Given the description of an element on the screen output the (x, y) to click on. 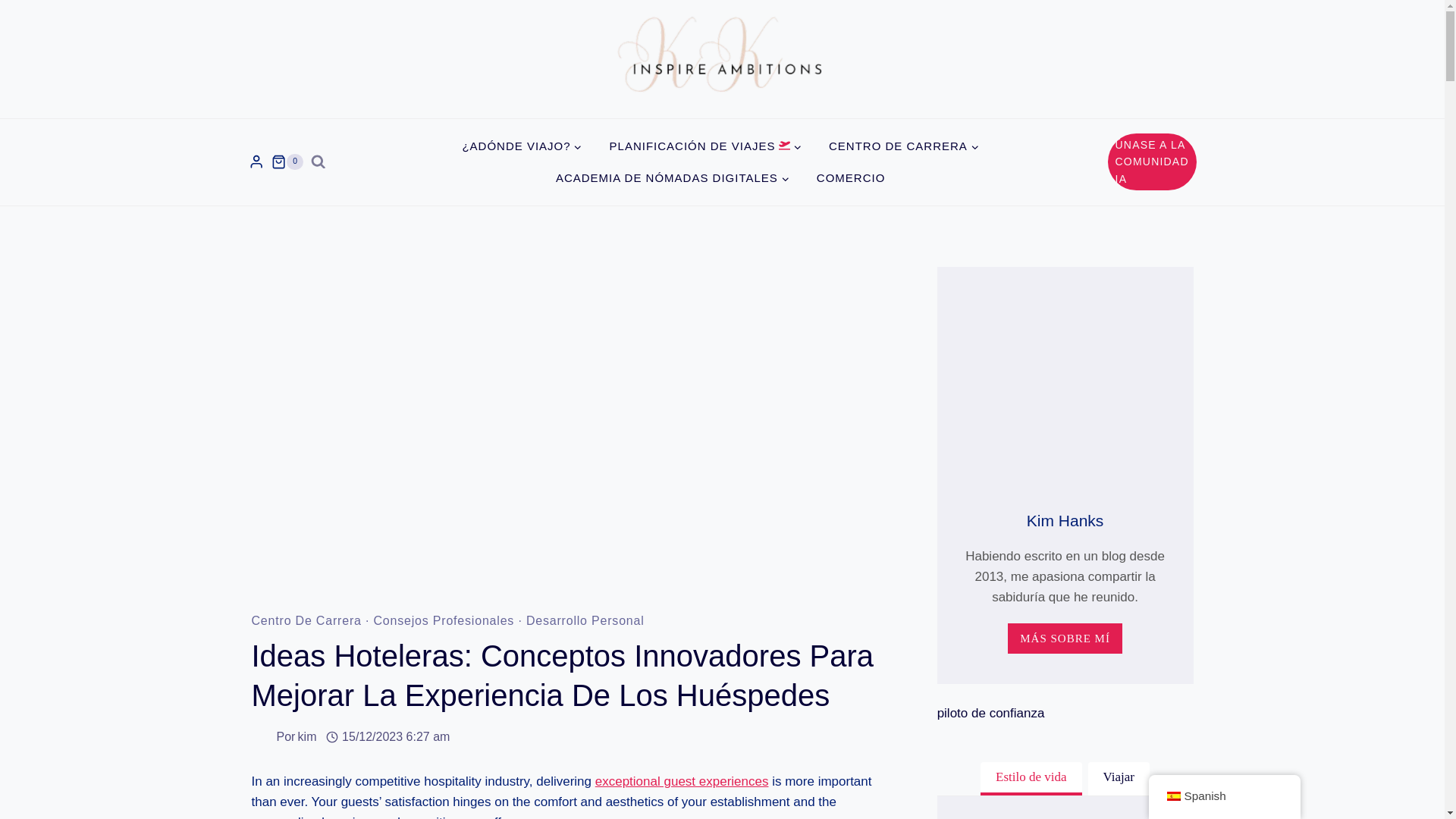
Spanish (1172, 795)
0 (286, 161)
